Given the description of an element on the screen output the (x, y) to click on. 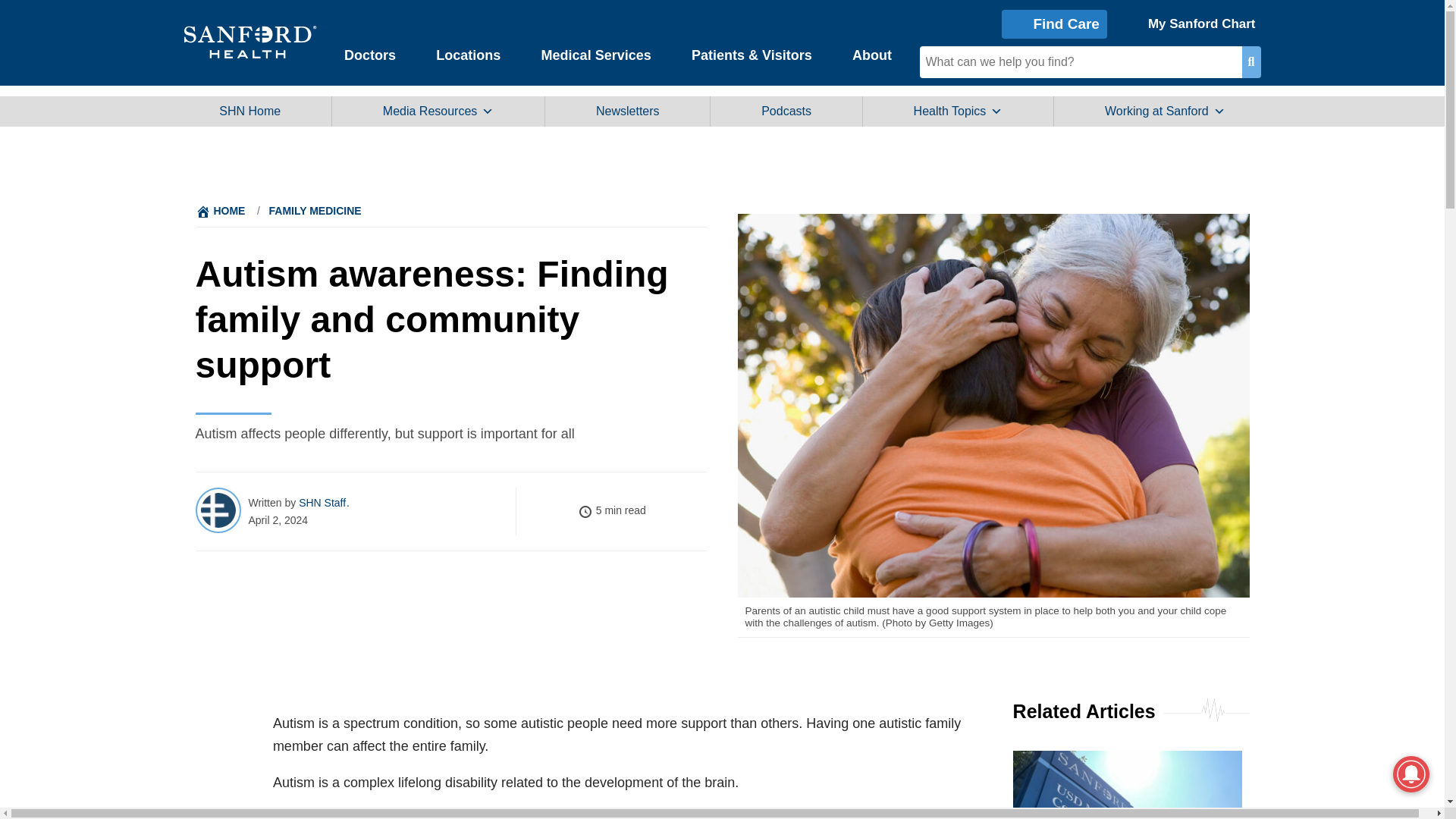
My Sanford Chart (1189, 23)
Locations (468, 54)
Find Care (1053, 23)
About (871, 54)
Search for (1079, 60)
Podcasts (785, 111)
Health Topics (957, 111)
Media Resources (437, 111)
SHN Home (249, 111)
Working at Sanford (1164, 111)
Medical Services (596, 54)
Doctors (370, 54)
Newsletters (627, 111)
